Given the description of an element on the screen output the (x, y) to click on. 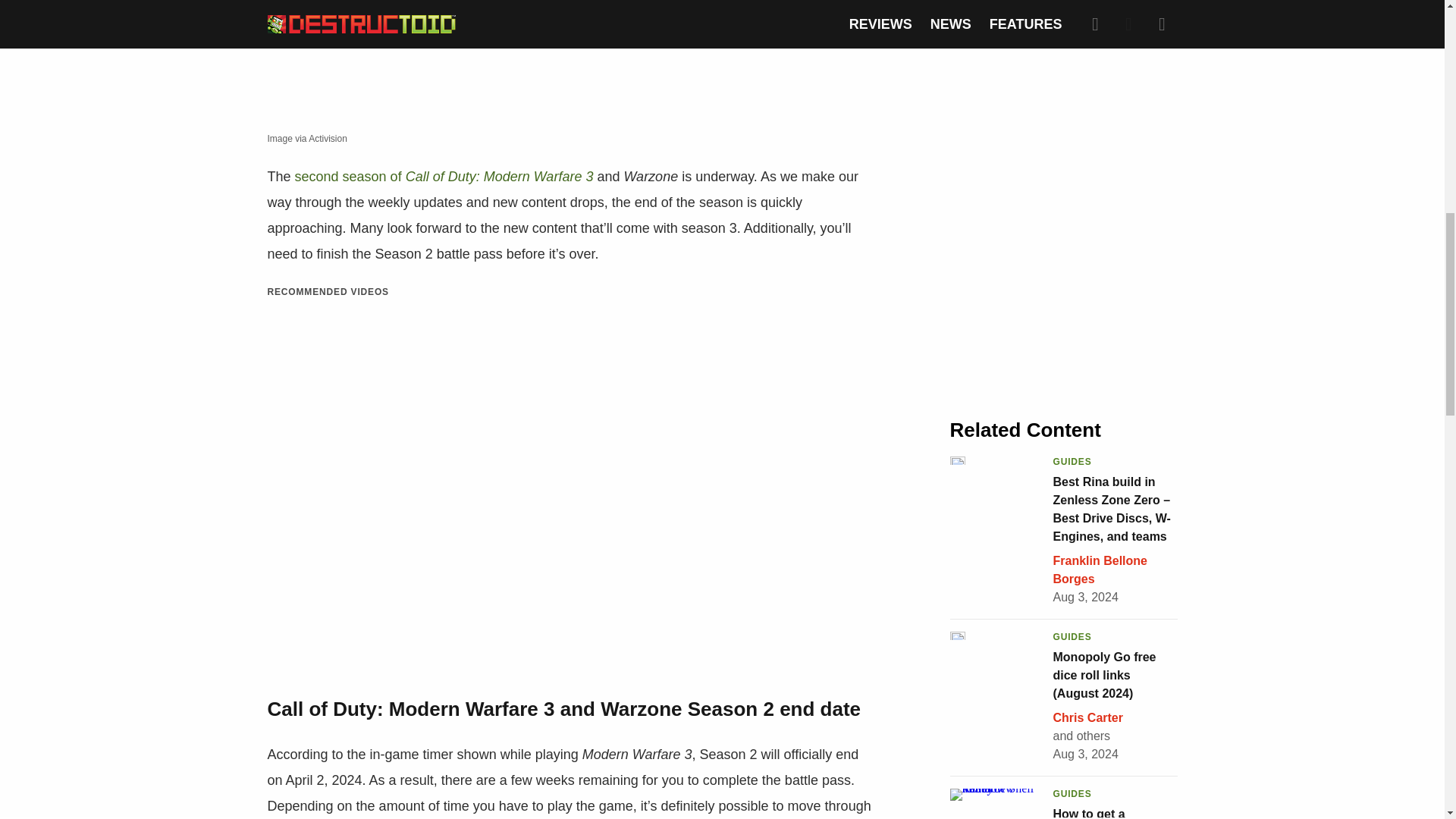
second season of Call of Duty: Modern Warfare 3 (444, 176)
